Given the description of an element on the screen output the (x, y) to click on. 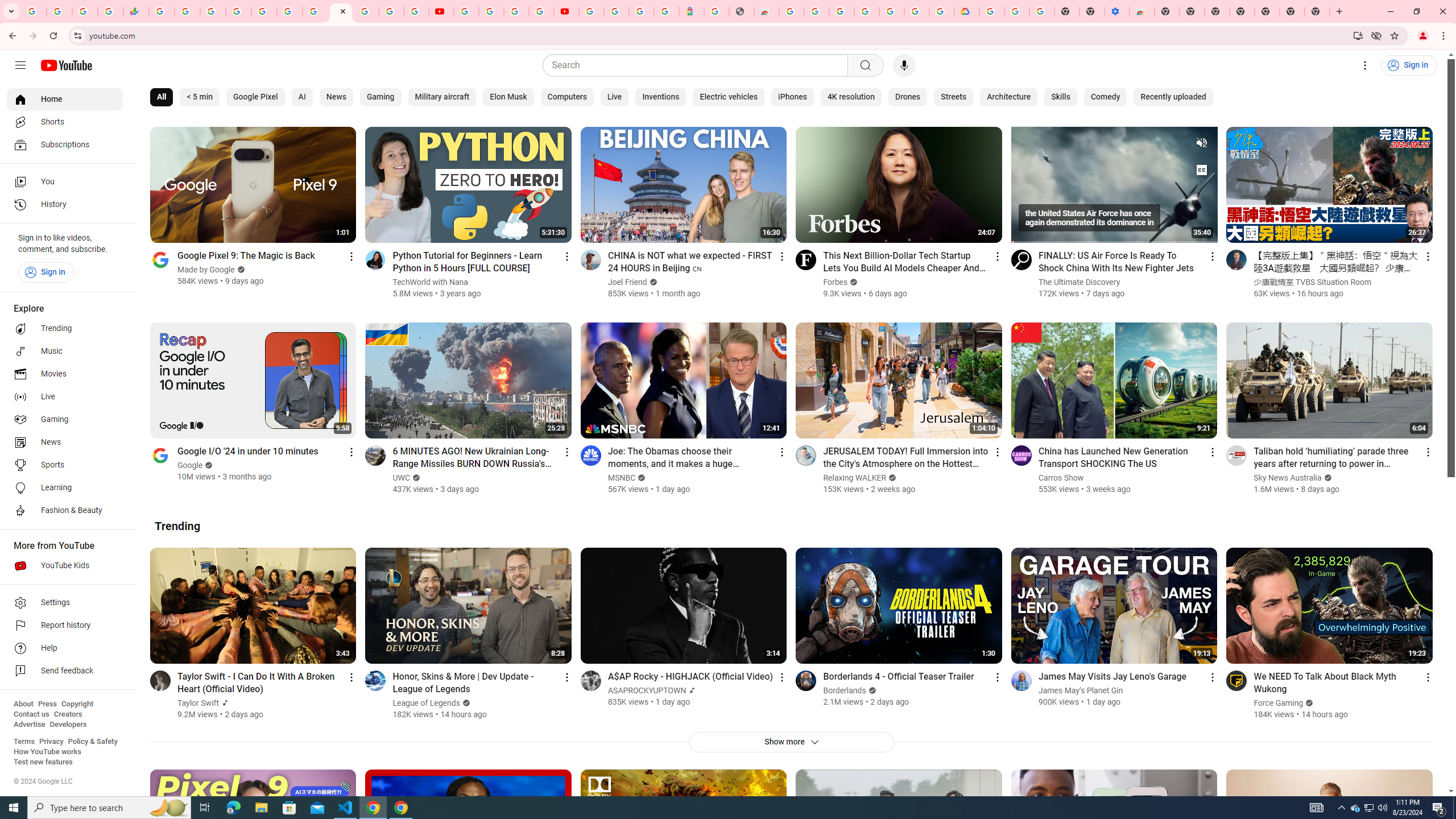
Home (64, 99)
Shorts (64, 121)
Developers (68, 724)
Report history (64, 625)
Architecture (1008, 97)
Content Creator Programs & Opportunities - YouTube Creators (565, 11)
< 5 min (199, 97)
Create your Google Account (516, 11)
UWC (401, 477)
